Given the description of an element on the screen output the (x, y) to click on. 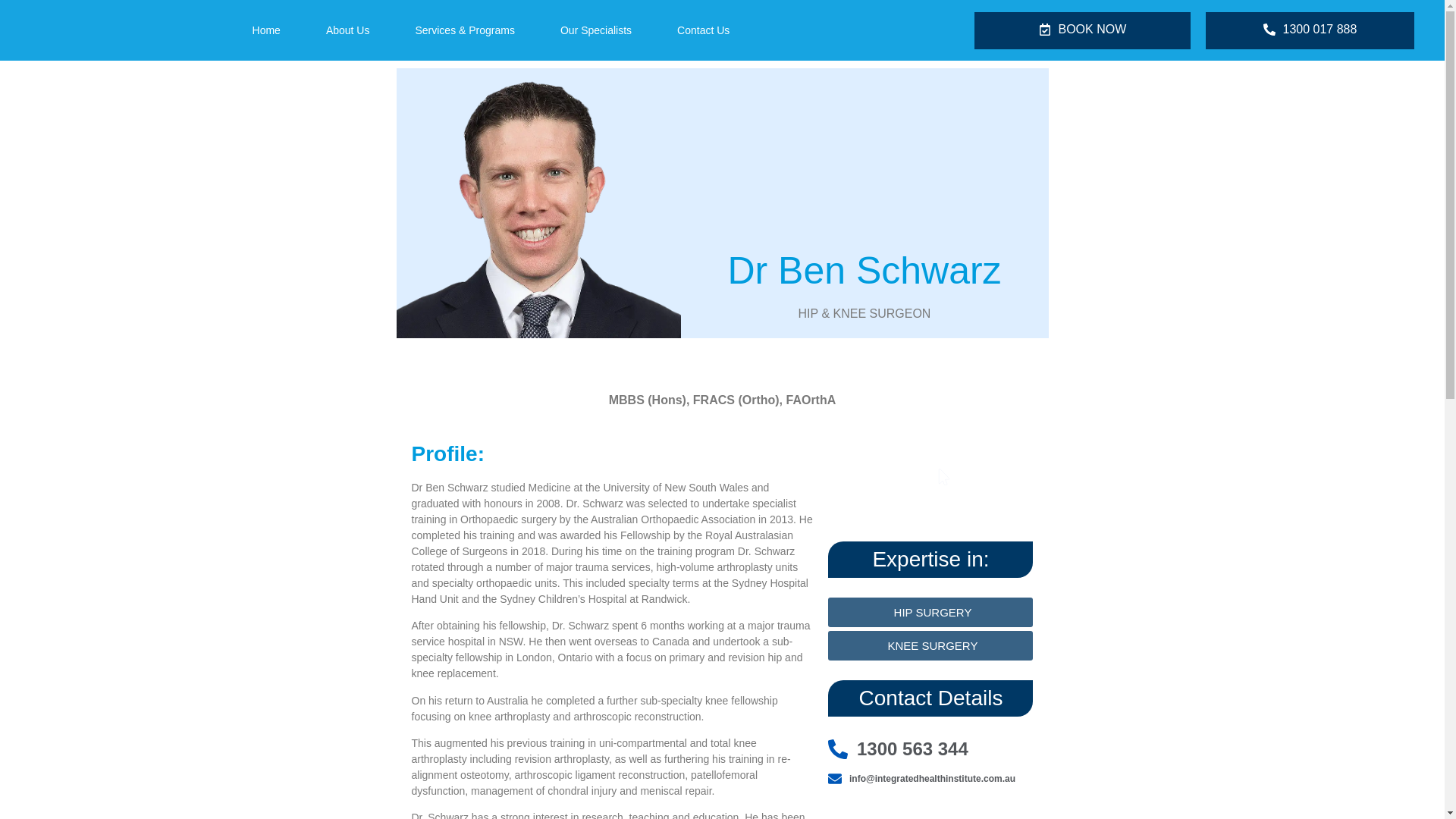
1300 017 888 (1309, 30)
Contact Us (703, 30)
HIP SURGERY (930, 612)
Our Specialists (595, 30)
Home (266, 30)
BOOK NOW (930, 468)
1300 563 344 (1082, 30)
About Us (930, 749)
KNEE SURGERY (348, 30)
